Given the description of an element on the screen output the (x, y) to click on. 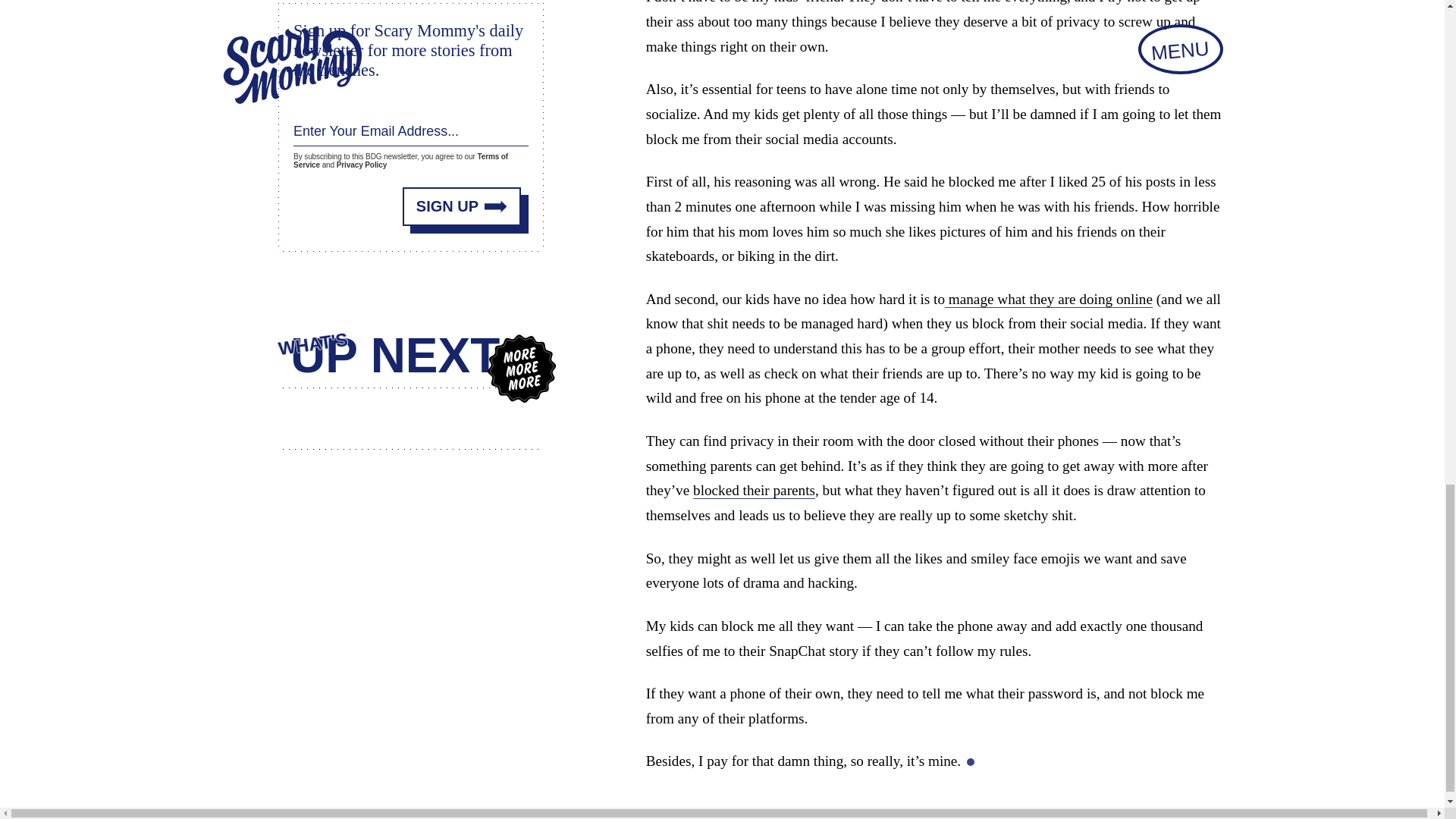
Terms of Service (401, 160)
blocked their parents (754, 490)
Privacy Policy (361, 164)
manage what they are doing online (1048, 299)
SIGN UP (462, 205)
